Given the description of an element on the screen output the (x, y) to click on. 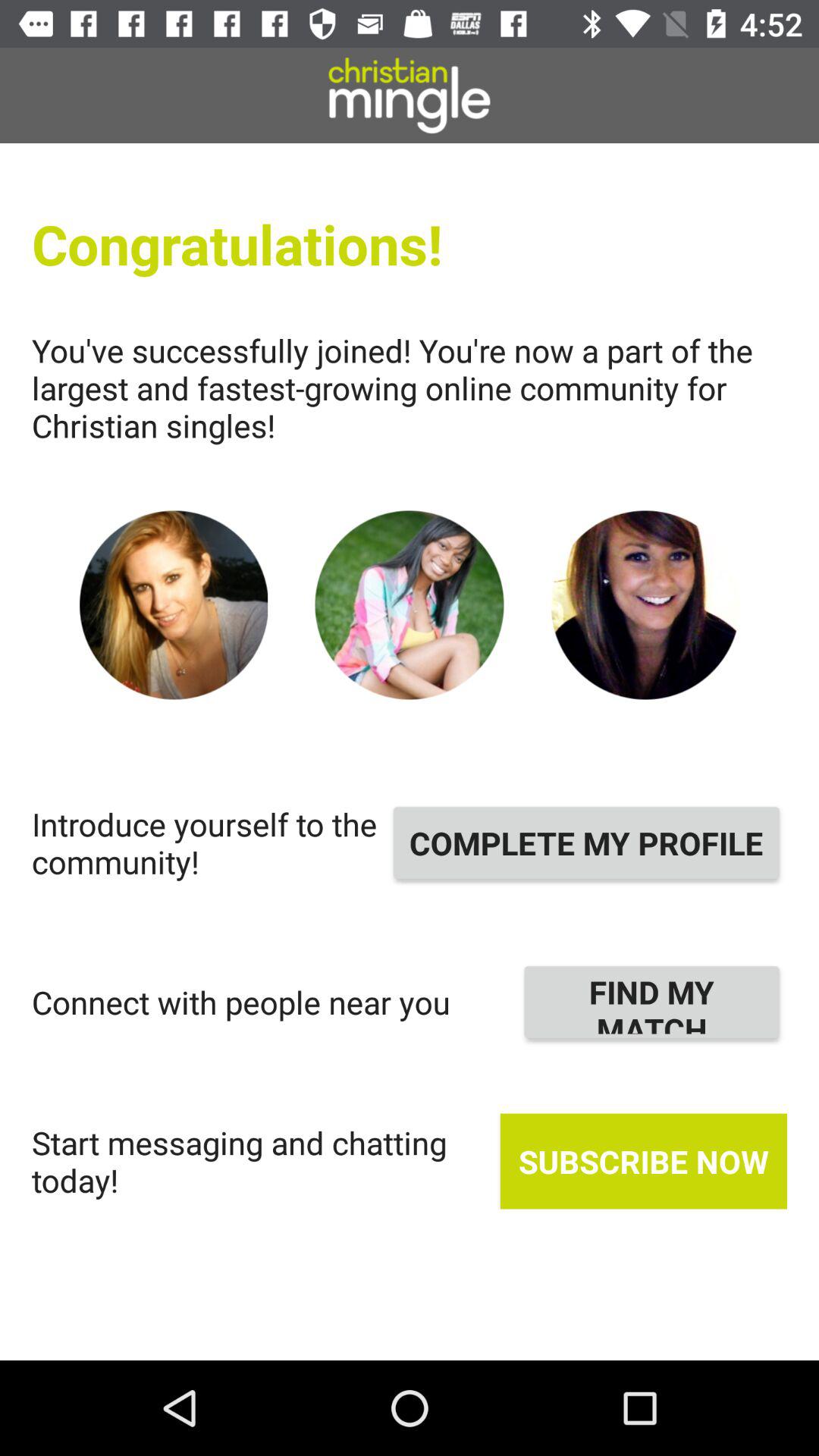
press the icon below the find my match (643, 1161)
